Given the description of an element on the screen output the (x, y) to click on. 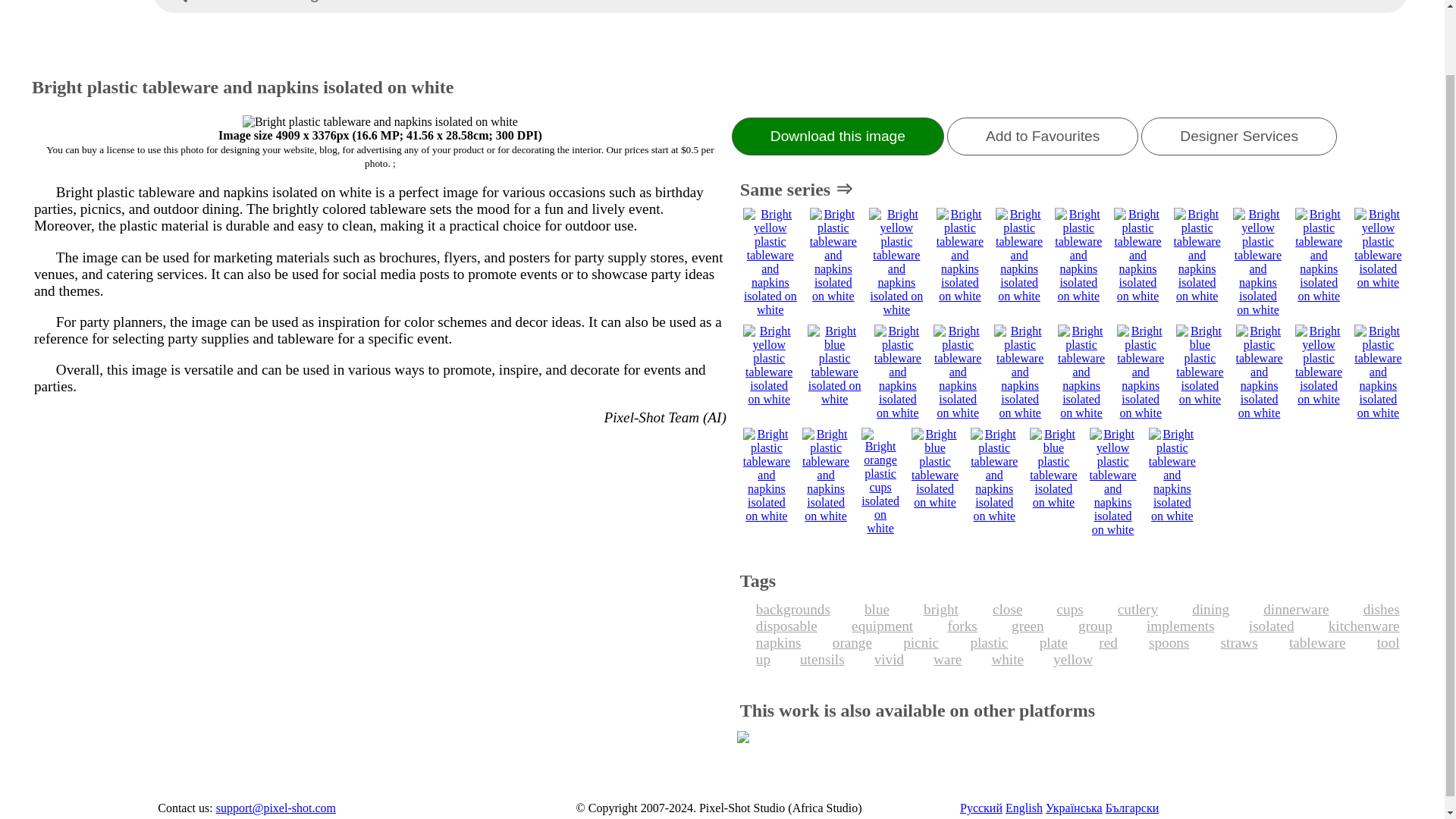
Designer Services (1238, 136)
Bright plastic tableware and napkins isolated on white (380, 121)
Download this image (837, 136)
Add to Favourites (1042, 136)
